Given the description of an element on the screen output the (x, y) to click on. 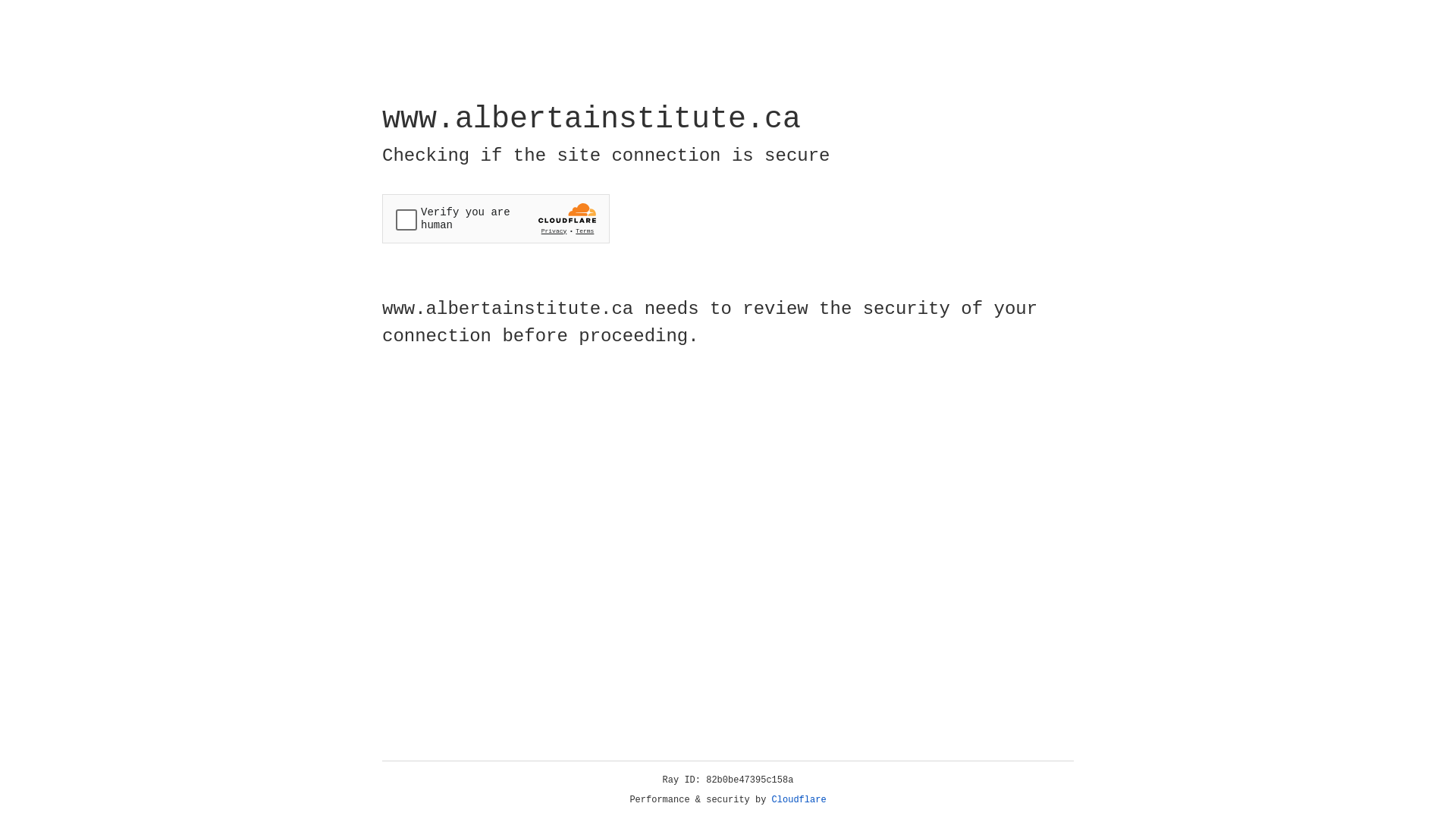
Cloudflare Element type: text (798, 799)
Widget containing a Cloudflare security challenge Element type: hover (495, 218)
